Given the description of an element on the screen output the (x, y) to click on. 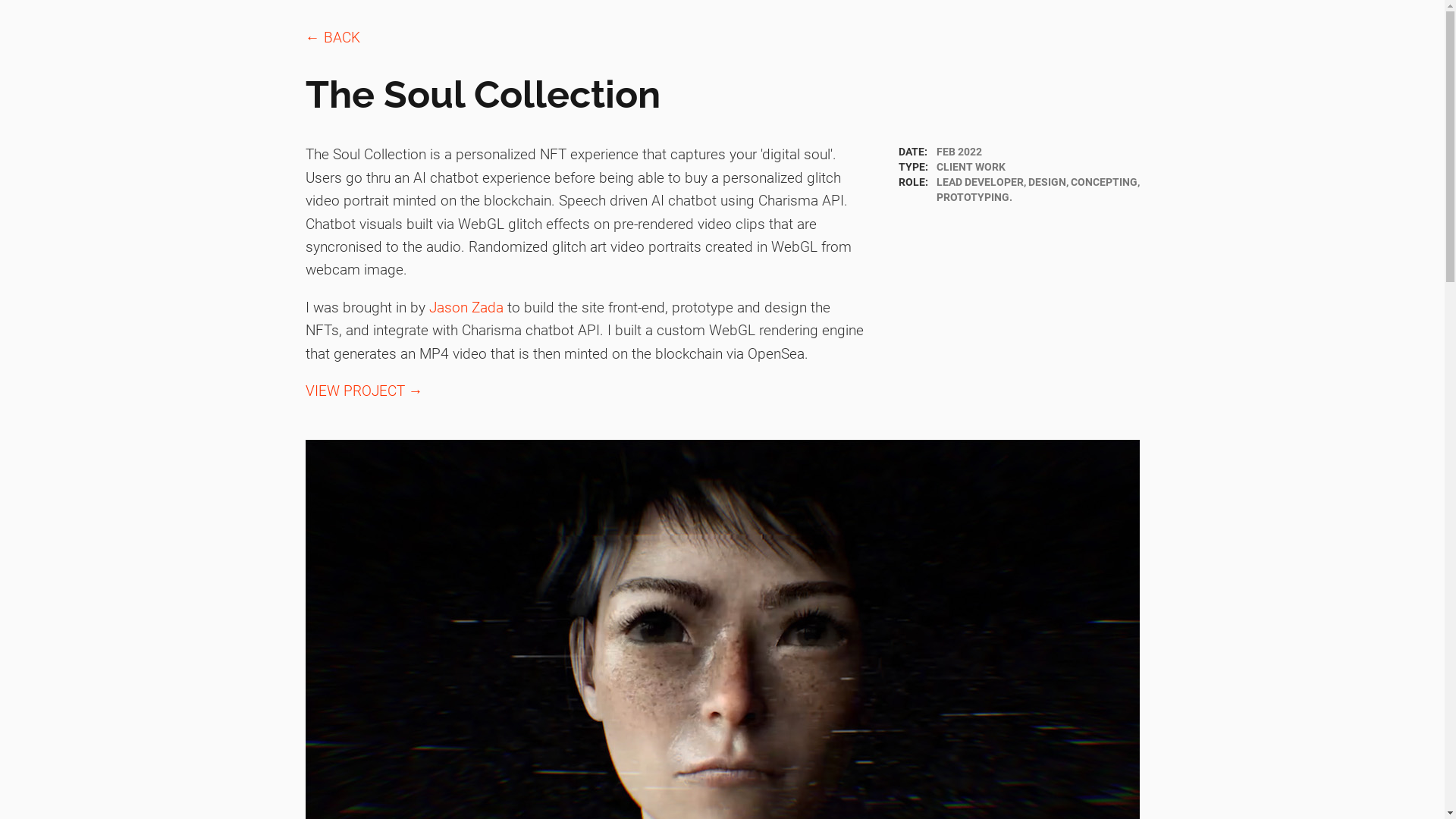
Jason Zada Element type: text (466, 307)
